Given the description of an element on the screen output the (x, y) to click on. 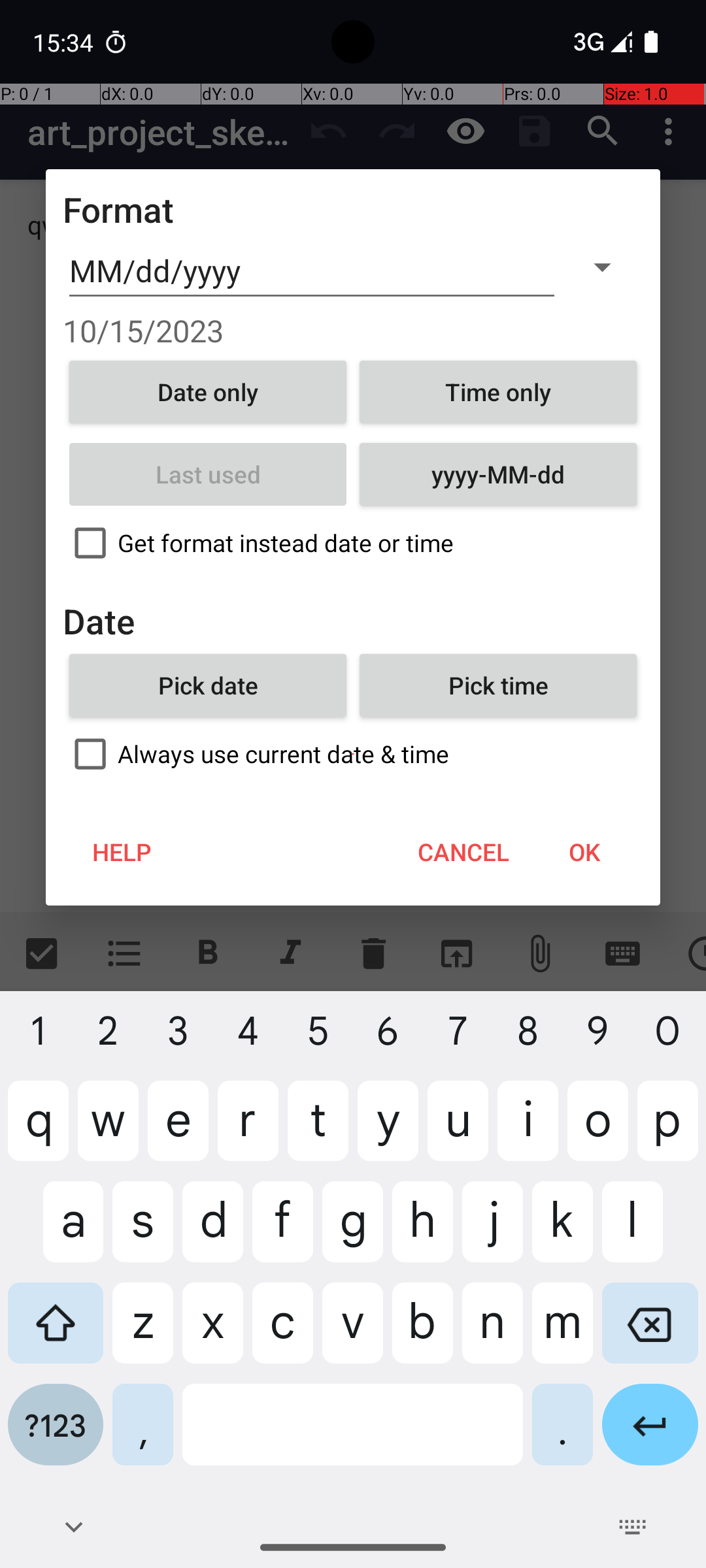
MM/dd/yyyy Element type: android.widget.EditText (311, 270)
10/15/2023 Element type: android.widget.TextView (352, 329)
